Given the description of an element on the screen output the (x, y) to click on. 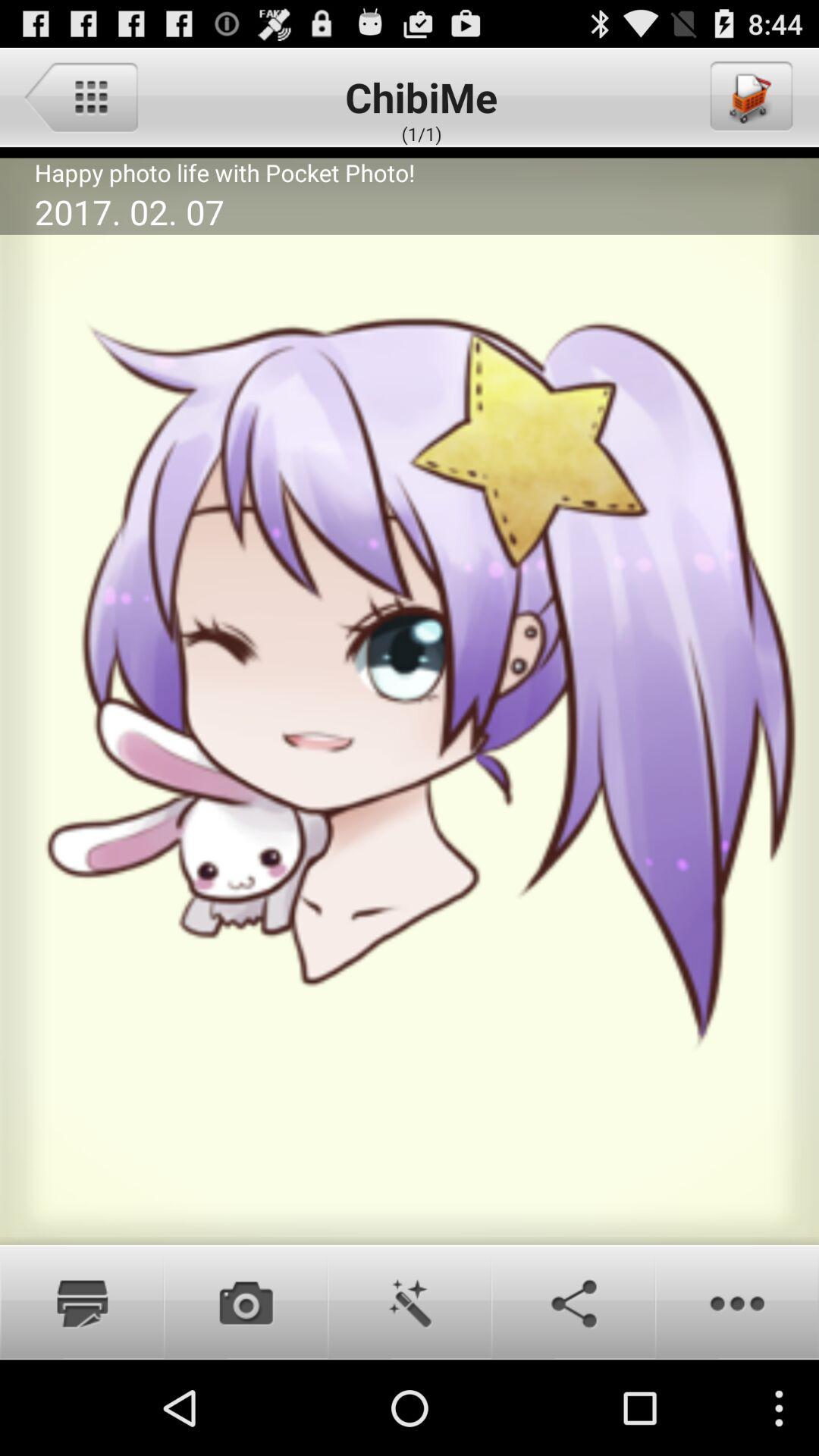
share image (573, 1301)
